Given the description of an element on the screen output the (x, y) to click on. 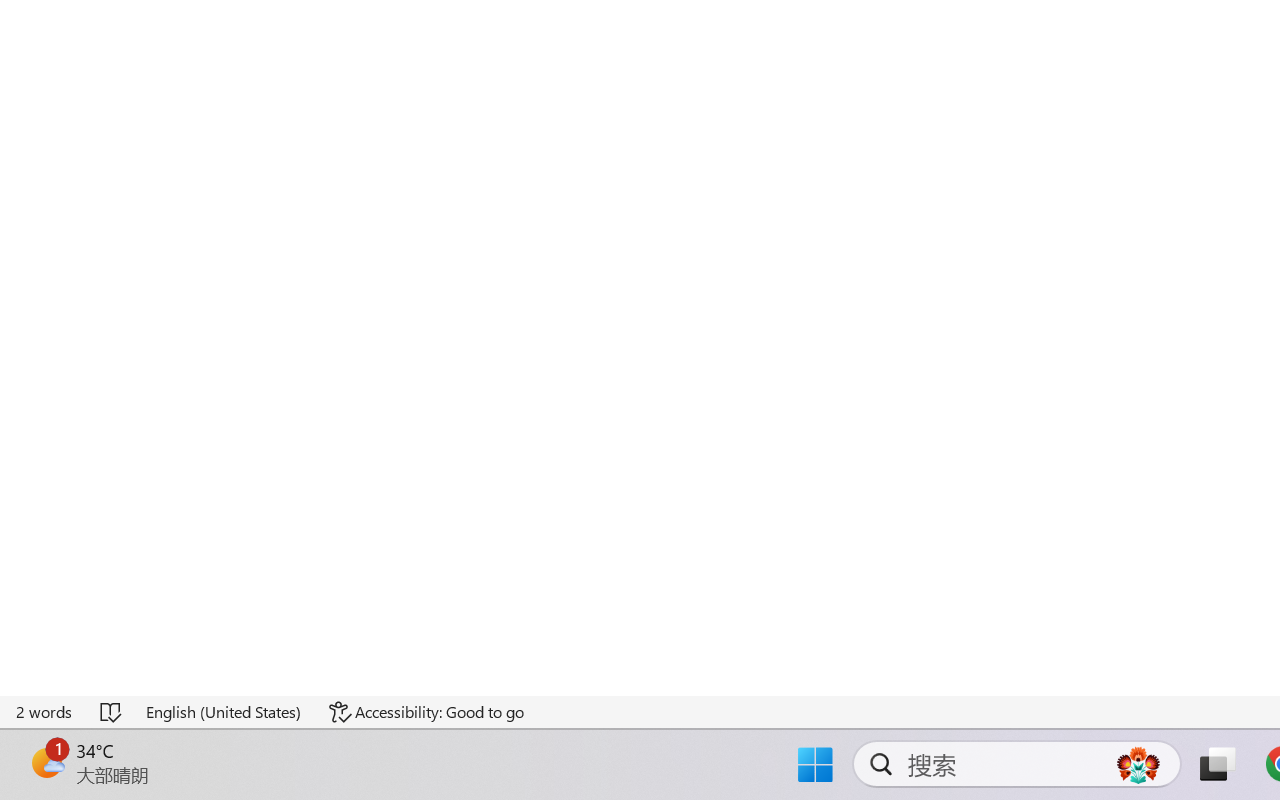
AutomationID: DynamicSearchBoxGleamImage (1138, 764)
Word Count 2 words (45, 712)
Spelling and Grammar Check No Errors (112, 712)
Accessibility Checker Accessibility: Good to go (426, 712)
Language English (United States) (224, 712)
AutomationID: BadgeAnchorLargeTicker (46, 762)
